Given the description of an element on the screen output the (x, y) to click on. 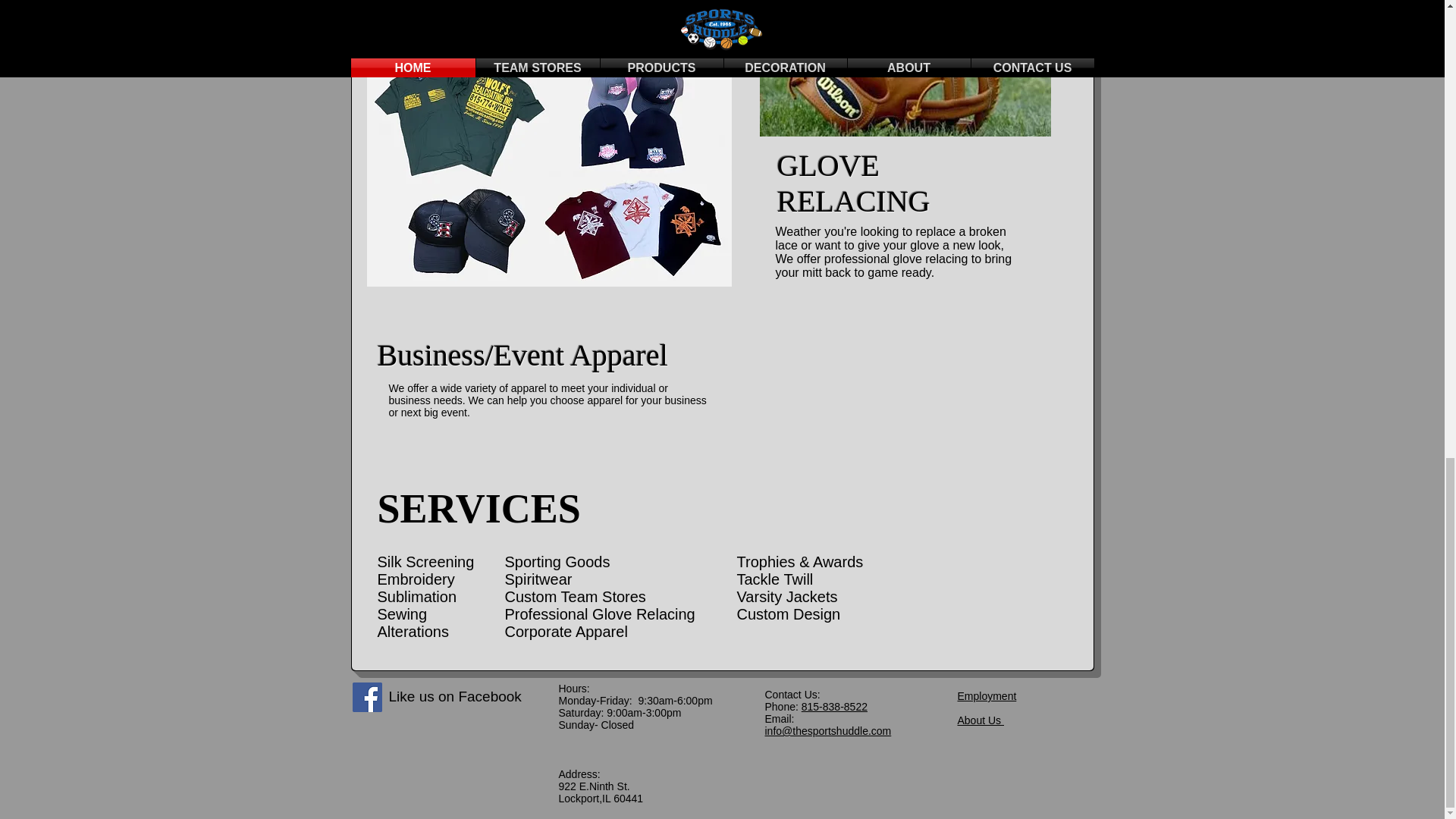
About Us  (979, 720)
Employment (986, 695)
815-838-8522 (834, 706)
